Given the description of an element on the screen output the (x, y) to click on. 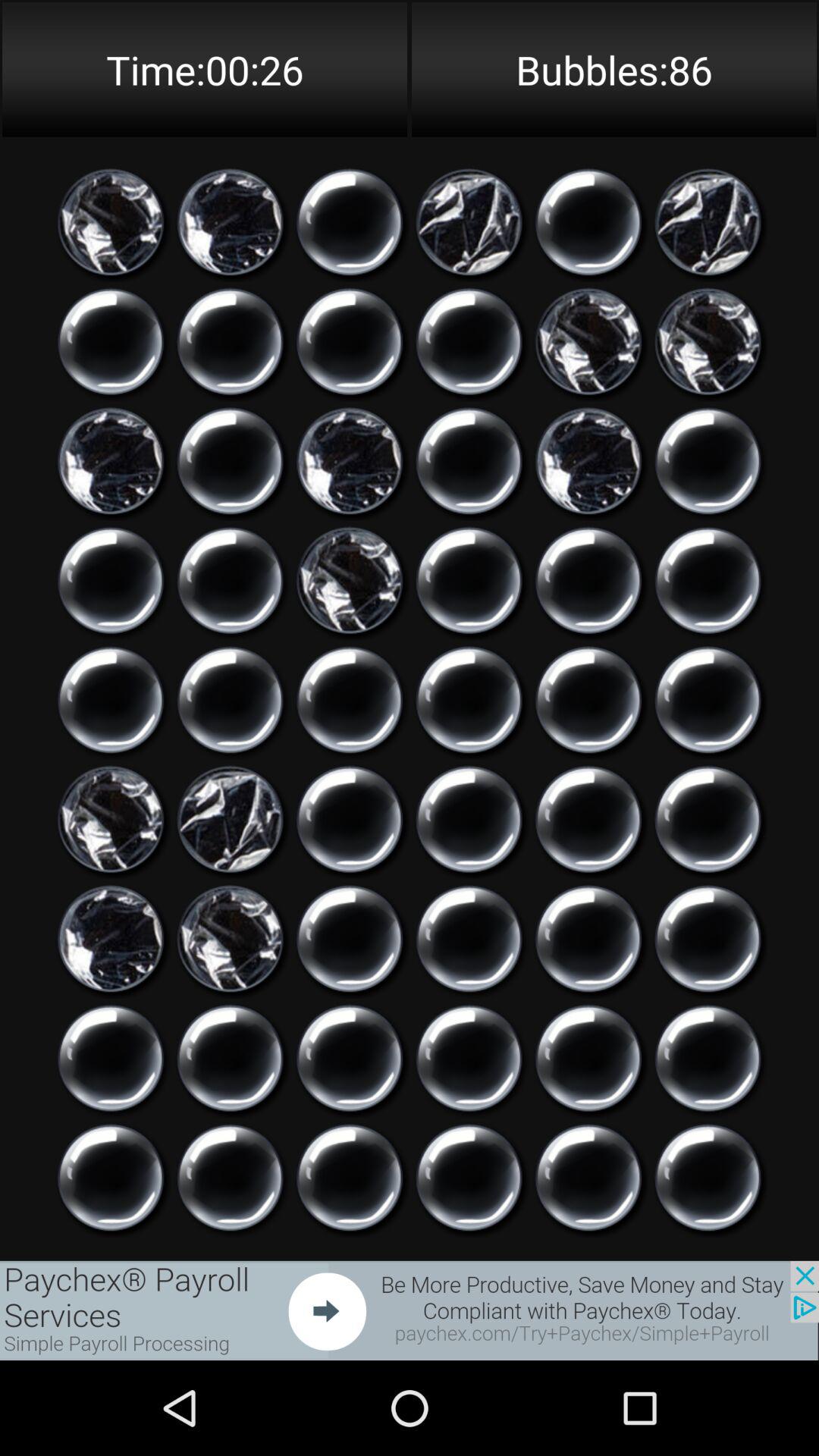
option (230, 341)
